Given the description of an element on the screen output the (x, y) to click on. 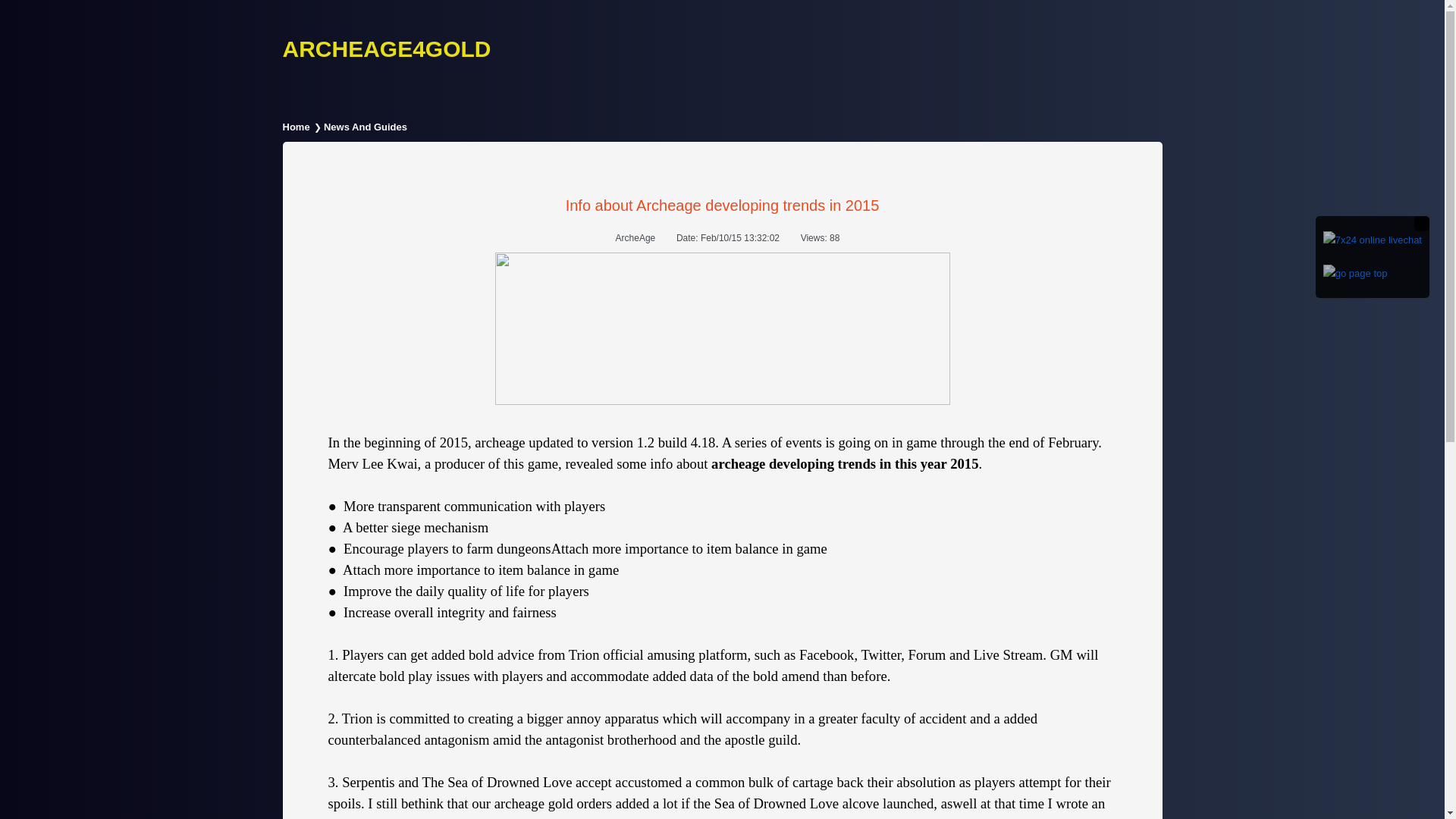
ARCHEAGE4GOLD (386, 49)
archeage4gold (386, 49)
